Given the description of an element on the screen output the (x, y) to click on. 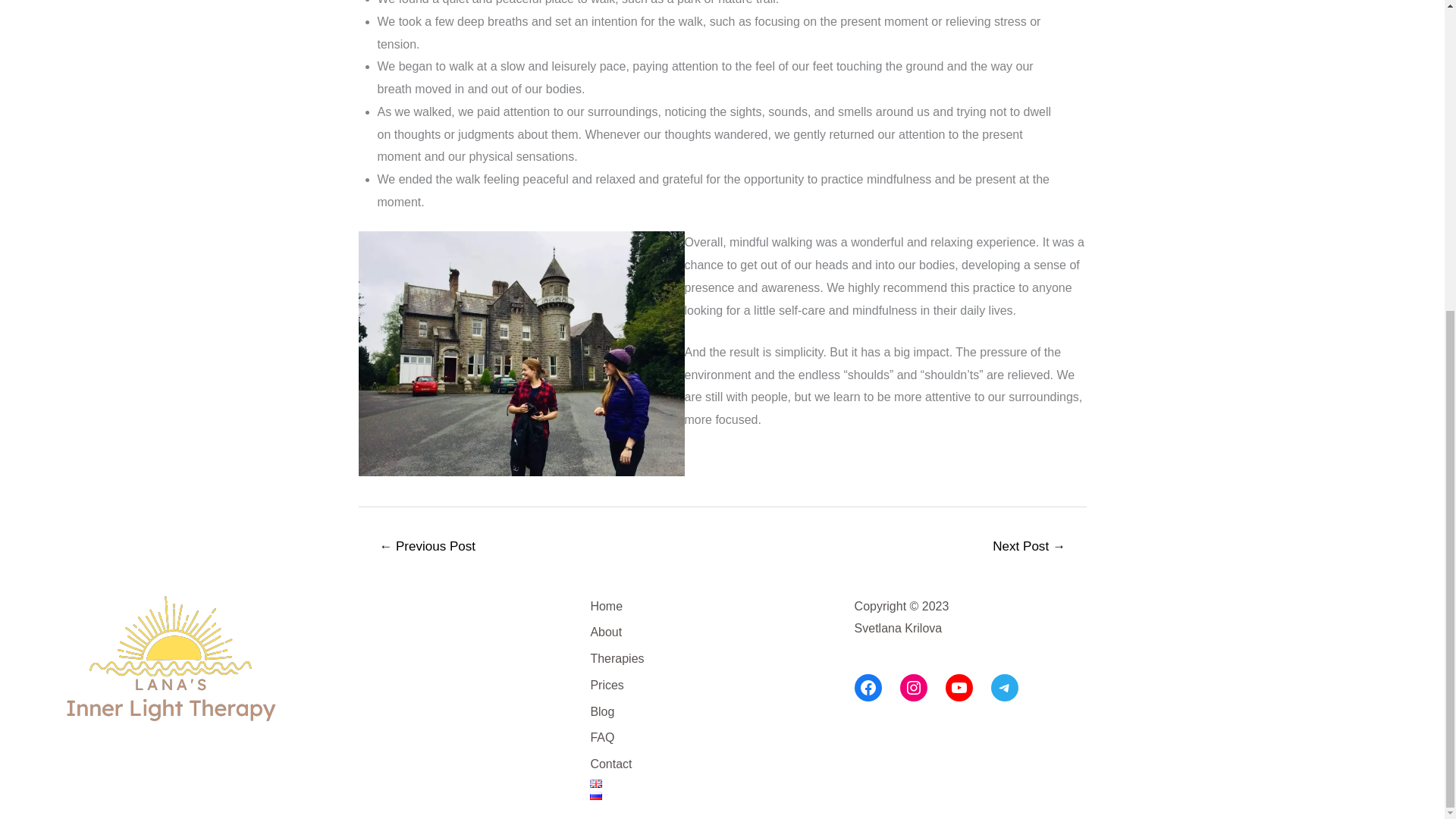
About (605, 633)
Prices (606, 687)
Therapies (616, 660)
Home (606, 608)
